Given the description of an element on the screen output the (x, y) to click on. 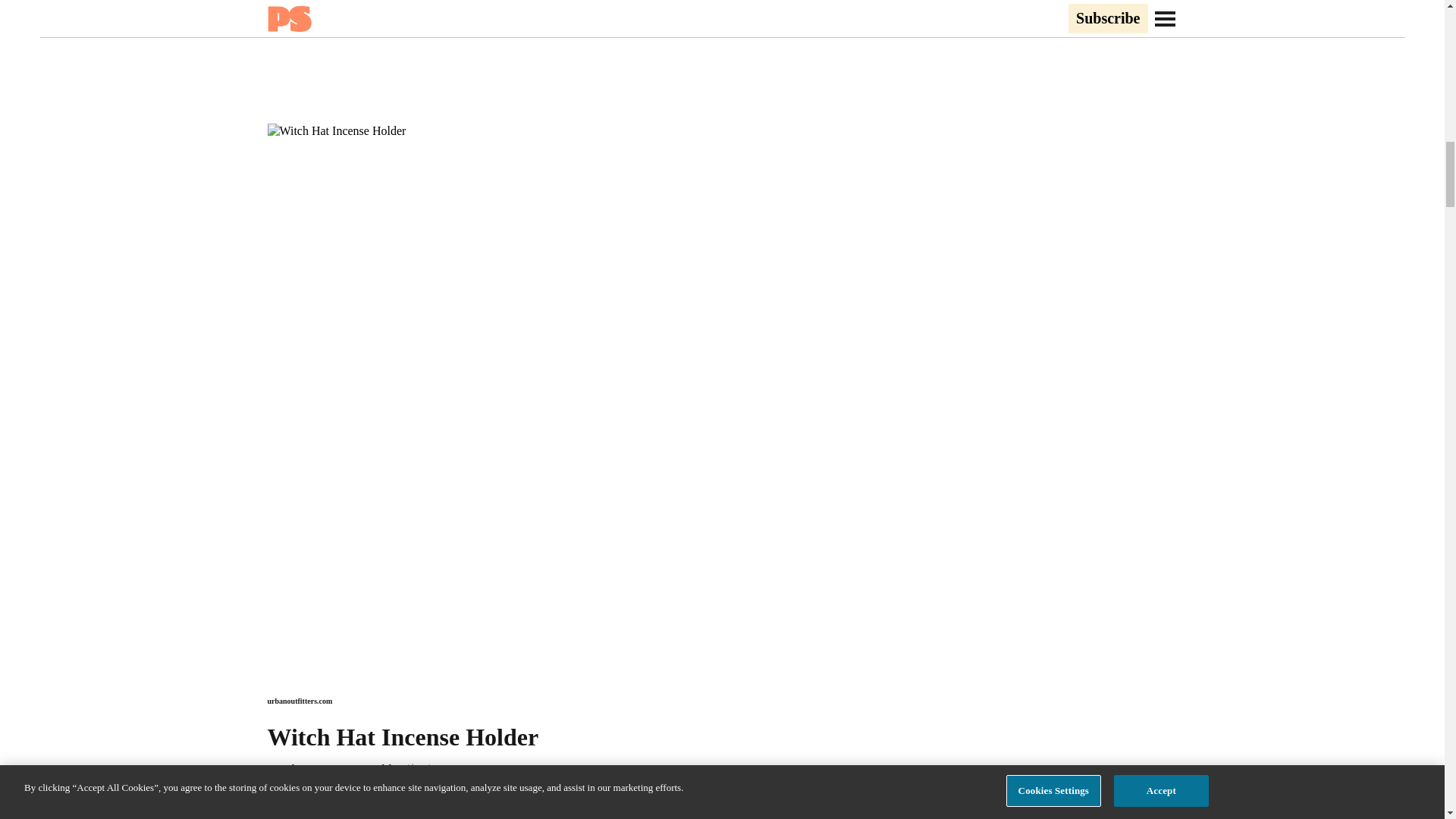
Witch Hat Incense Holder (333, 769)
urbanoutfitters.com (298, 700)
